Given the description of an element on the screen output the (x, y) to click on. 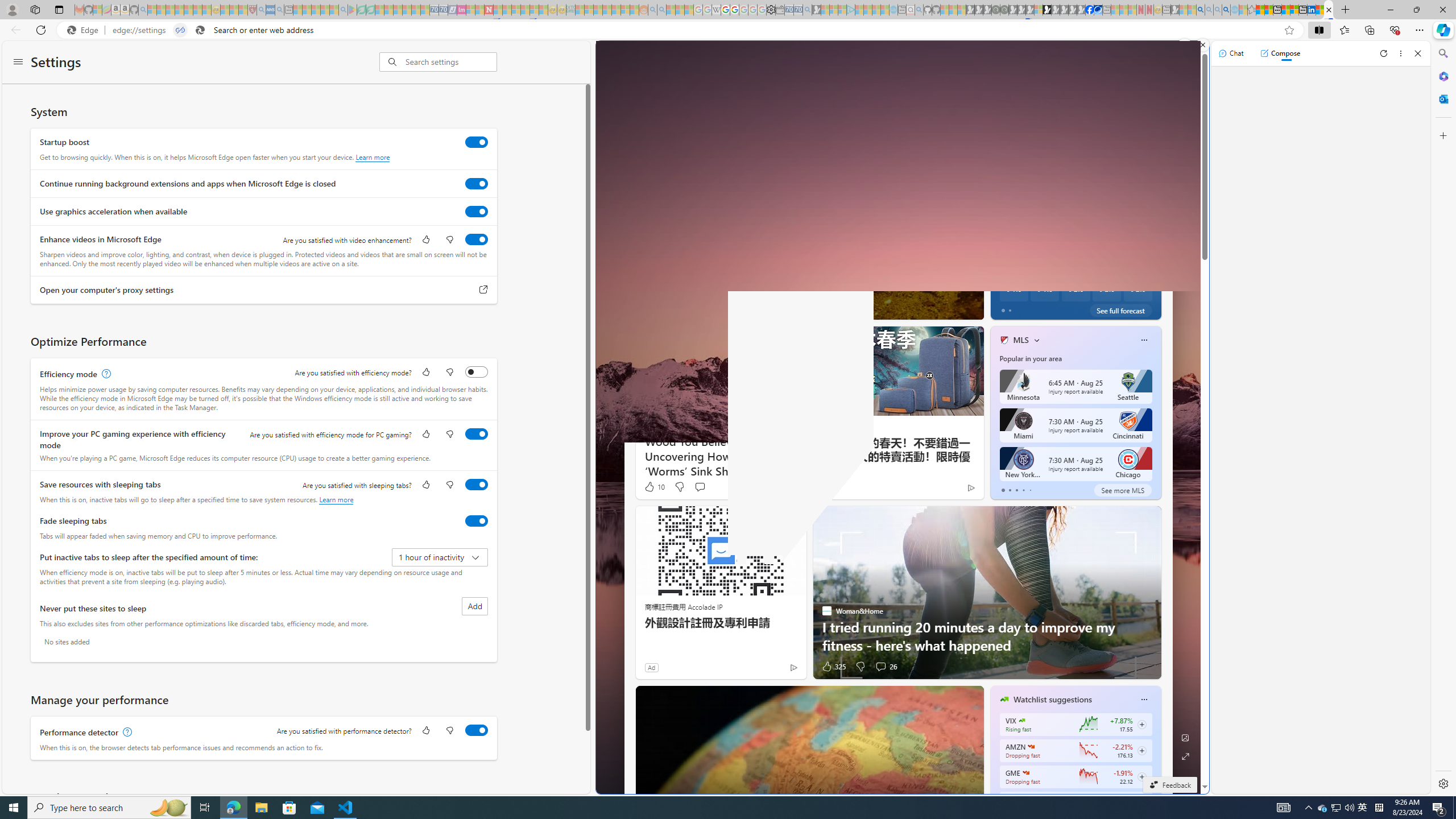
View comments 543 Comment (1051, 307)
View comments 14 Comment (1051, 307)
AutomationID: tab-27 (840, 308)
AutomationID: tab-17 (794, 308)
CNBC (999, 250)
